Given the description of an element on the screen output the (x, y) to click on. 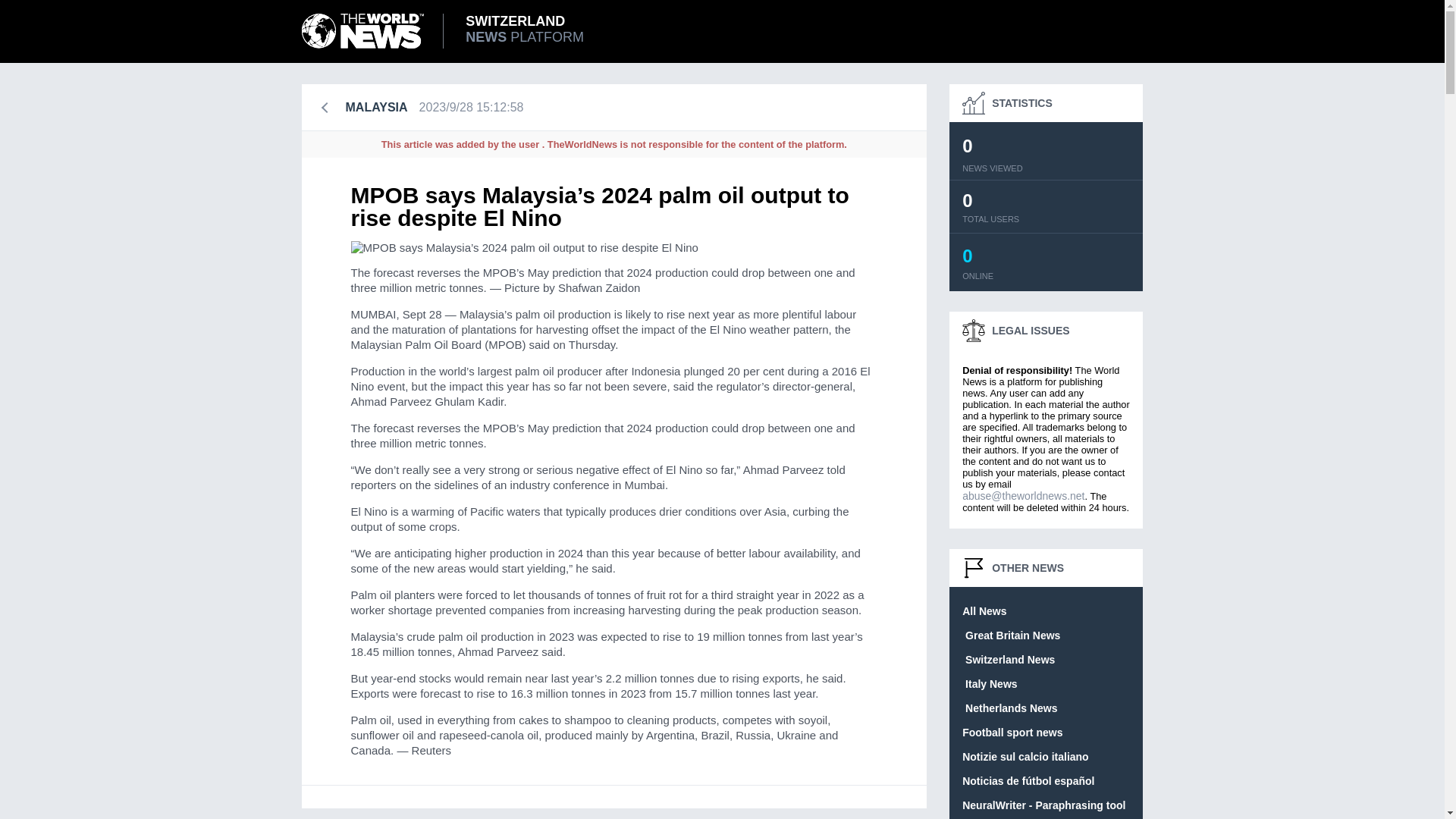
Italy News (989, 683)
Notizie sul calcio italiano (1024, 756)
Great Britain News (1010, 635)
Netherlands News (454, 30)
Switzerland News (1009, 708)
NeuralWriter - Paraphrasing tool (1008, 659)
All News (1043, 805)
Football sport news (984, 611)
